Given the description of an element on the screen output the (x, y) to click on. 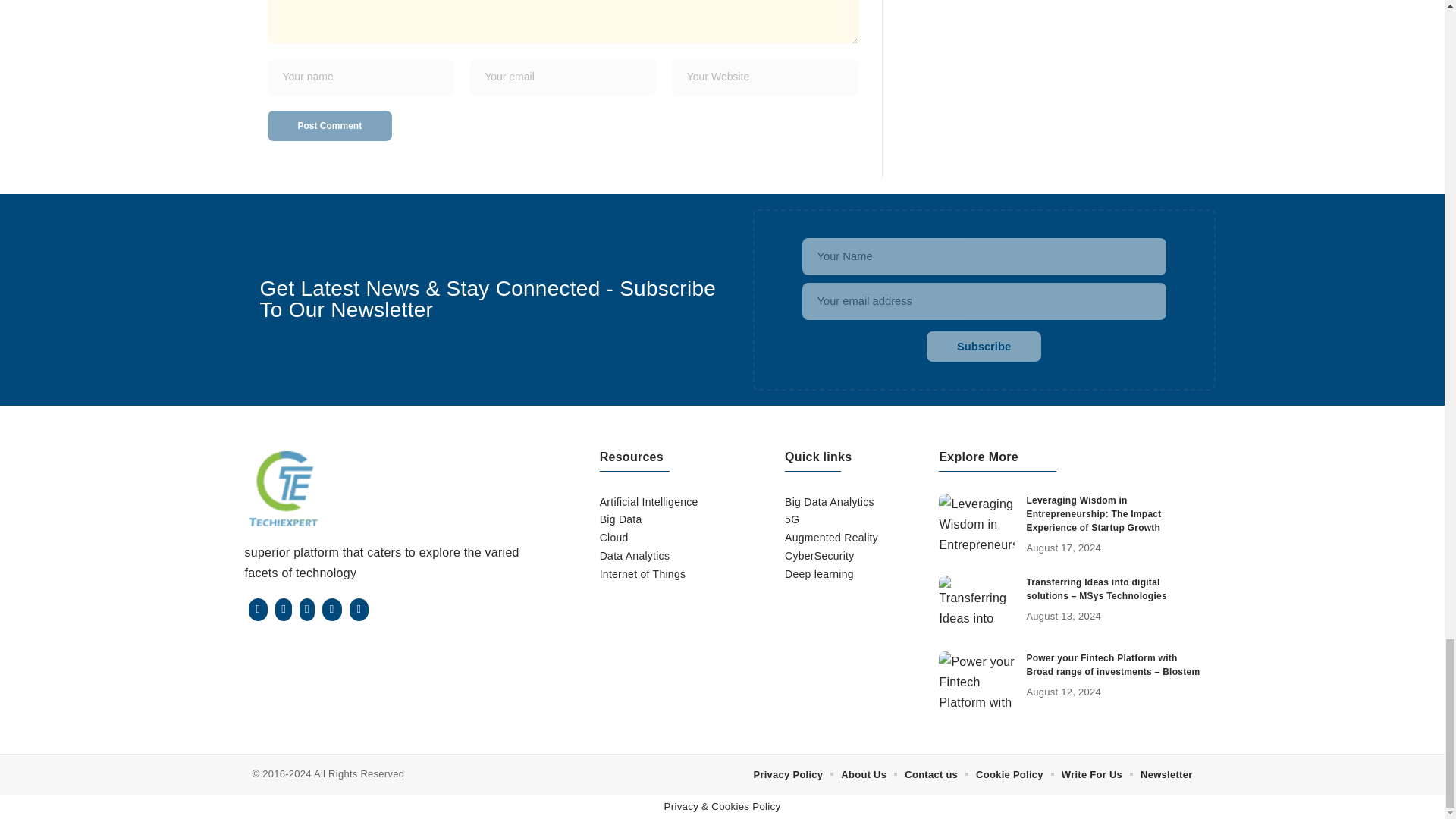
Subscribe (983, 346)
Post Comment (328, 125)
